Given the description of an element on the screen output the (x, y) to click on. 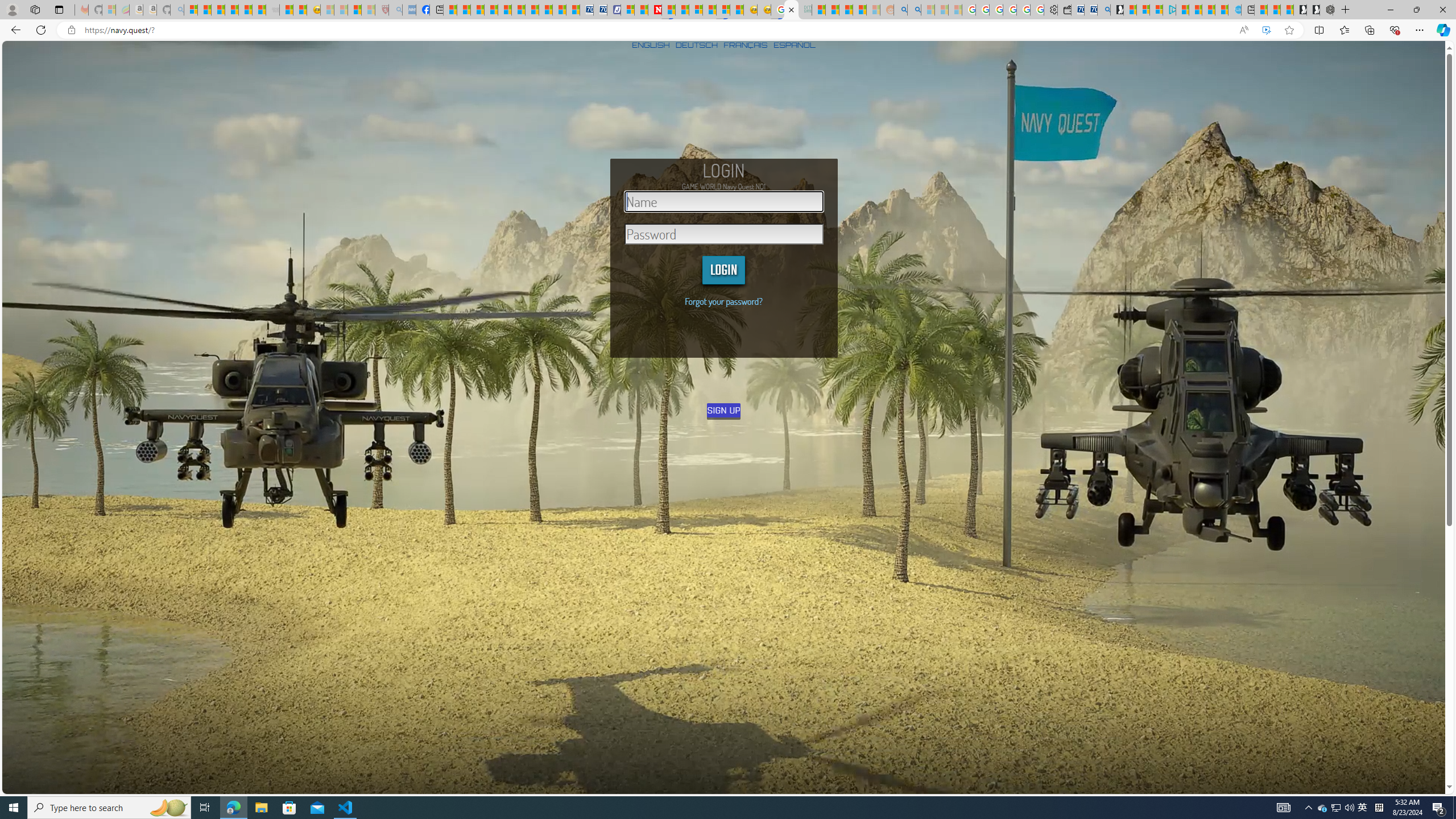
DEUTSCH (696, 44)
